Given the description of an element on the screen output the (x, y) to click on. 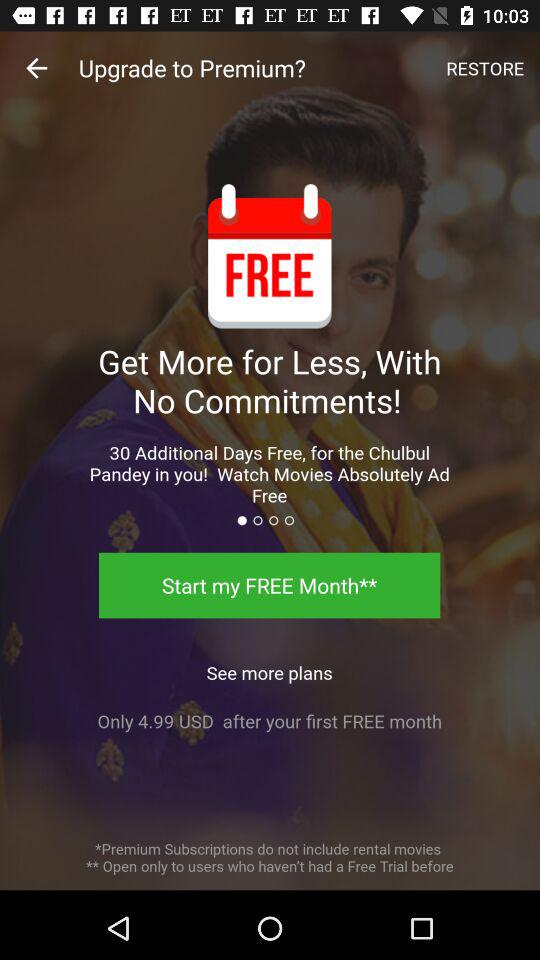
press the item next to upgrade to premium? (36, 68)
